Given the description of an element on the screen output the (x, y) to click on. 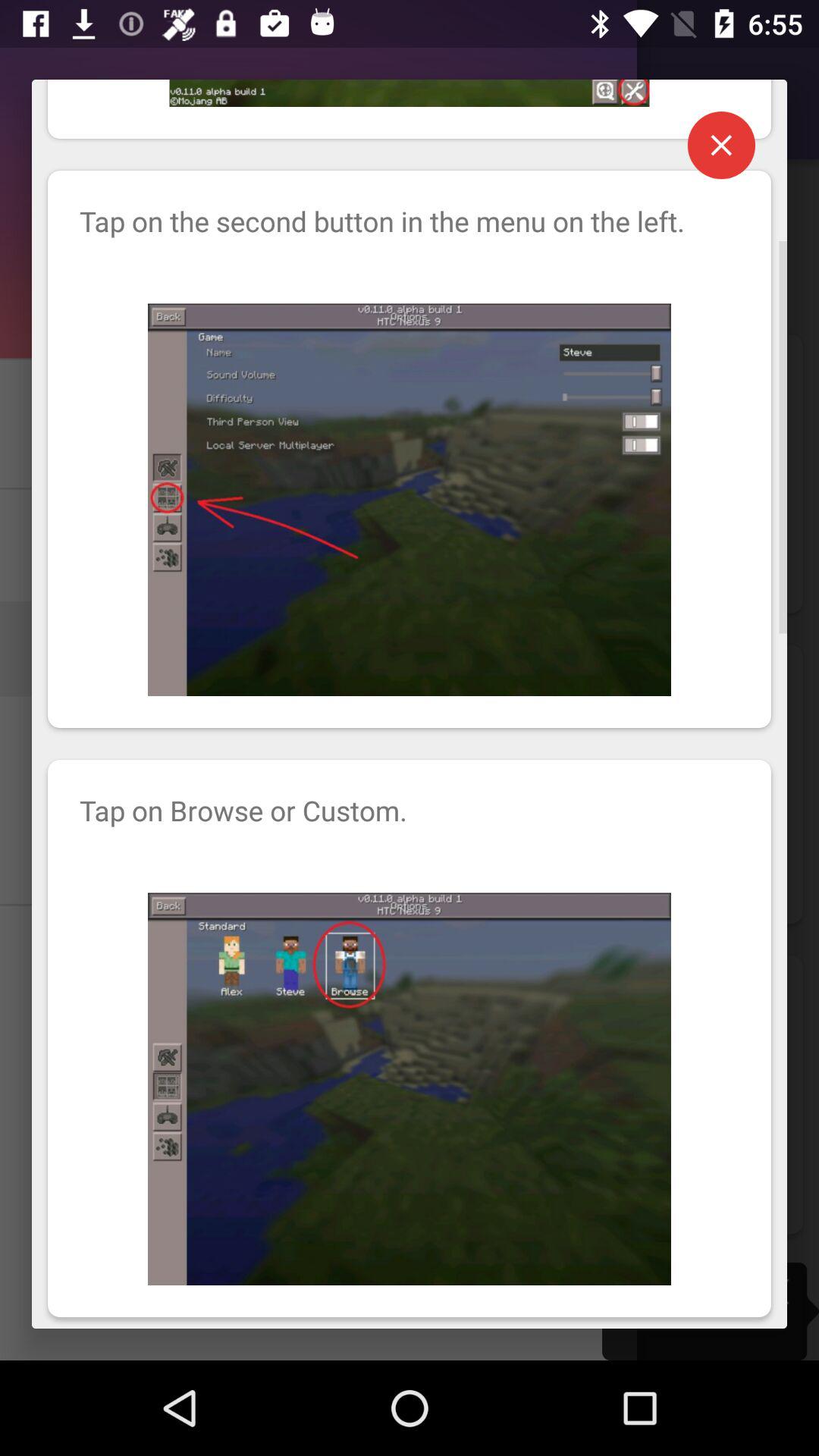
press item above tap on the item (721, 145)
